Given the description of an element on the screen output the (x, y) to click on. 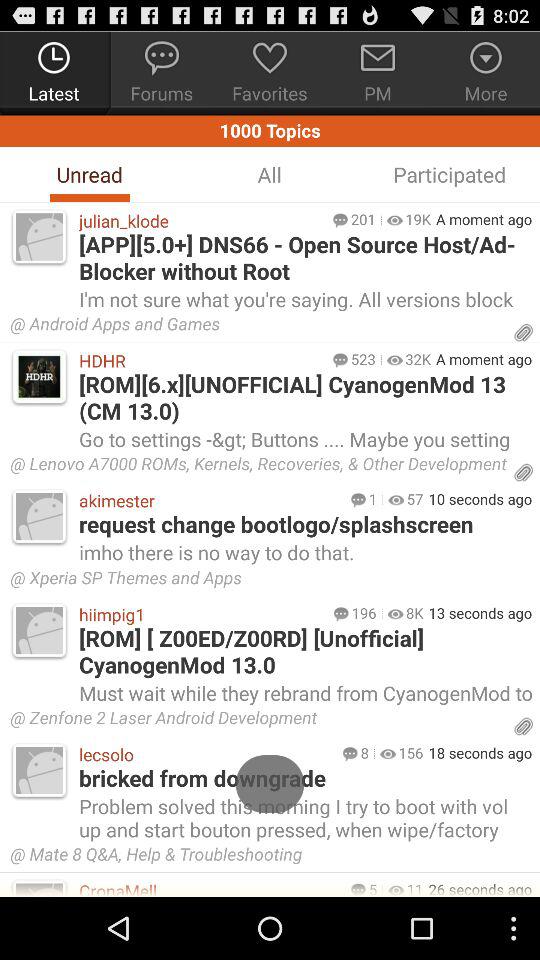
flip until 196 icon (363, 612)
